Given the description of an element on the screen output the (x, y) to click on. 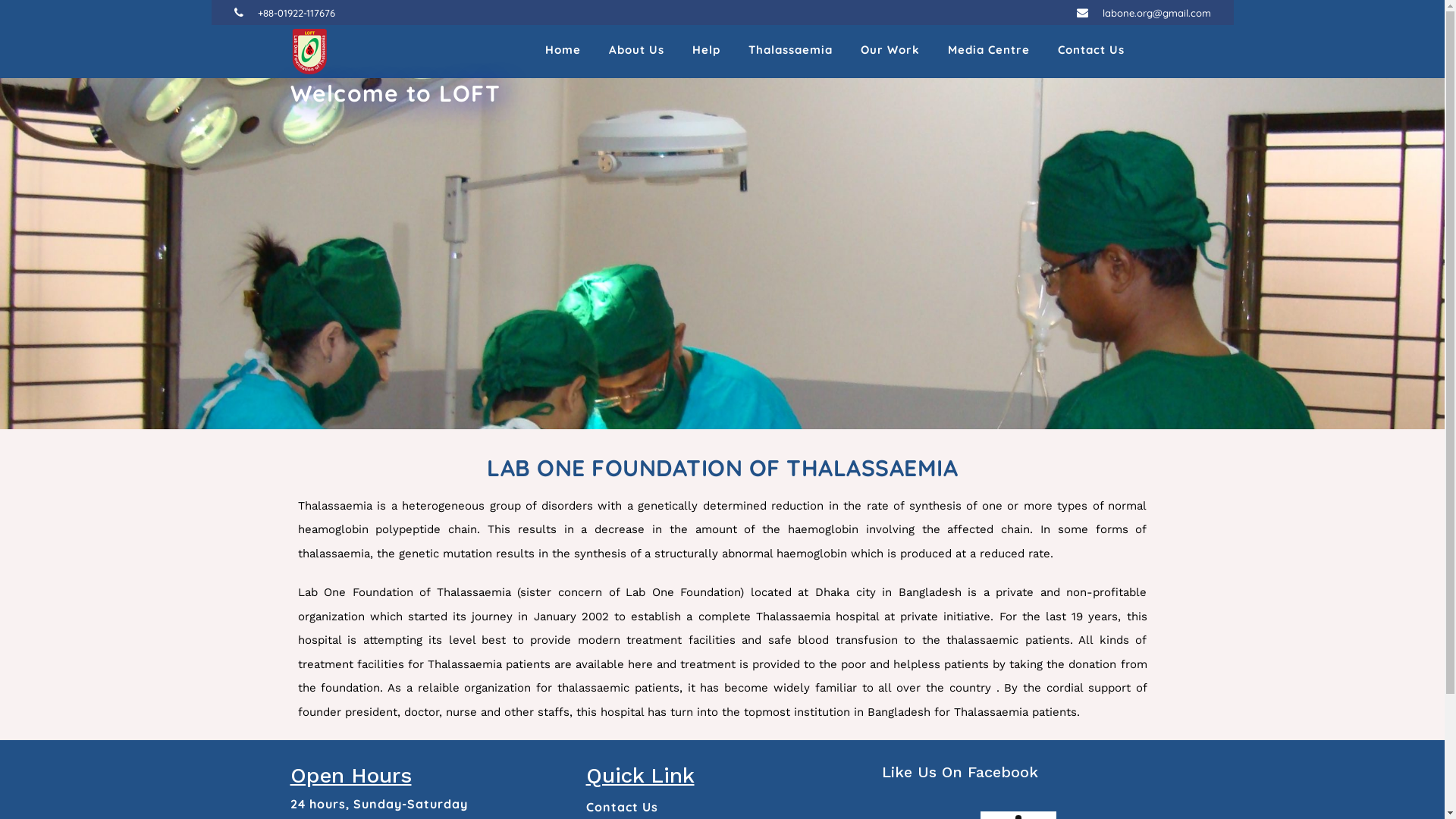
Our Work Element type: text (889, 51)
Thalassaemia Element type: text (789, 51)
Help Element type: text (705, 51)
About Us Element type: text (635, 51)
Media Centre Element type: text (988, 51)
Home Element type: text (562, 51)
Contact Us Element type: text (1090, 51)
Contact Us Element type: text (621, 806)
